Given the description of an element on the screen output the (x, y) to click on. 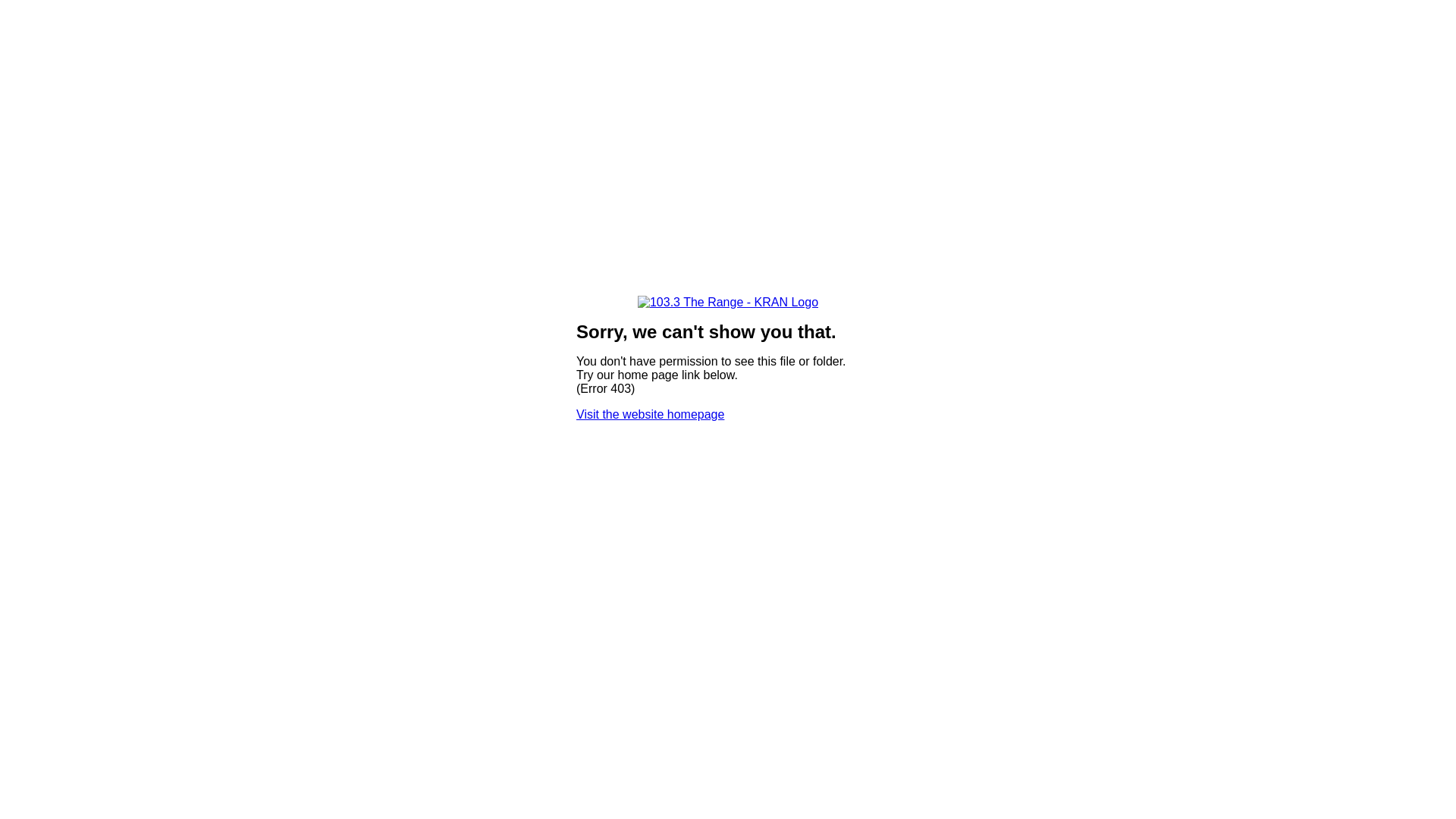
Visit the website homepage Element type: text (650, 413)
